Given the description of an element on the screen output the (x, y) to click on. 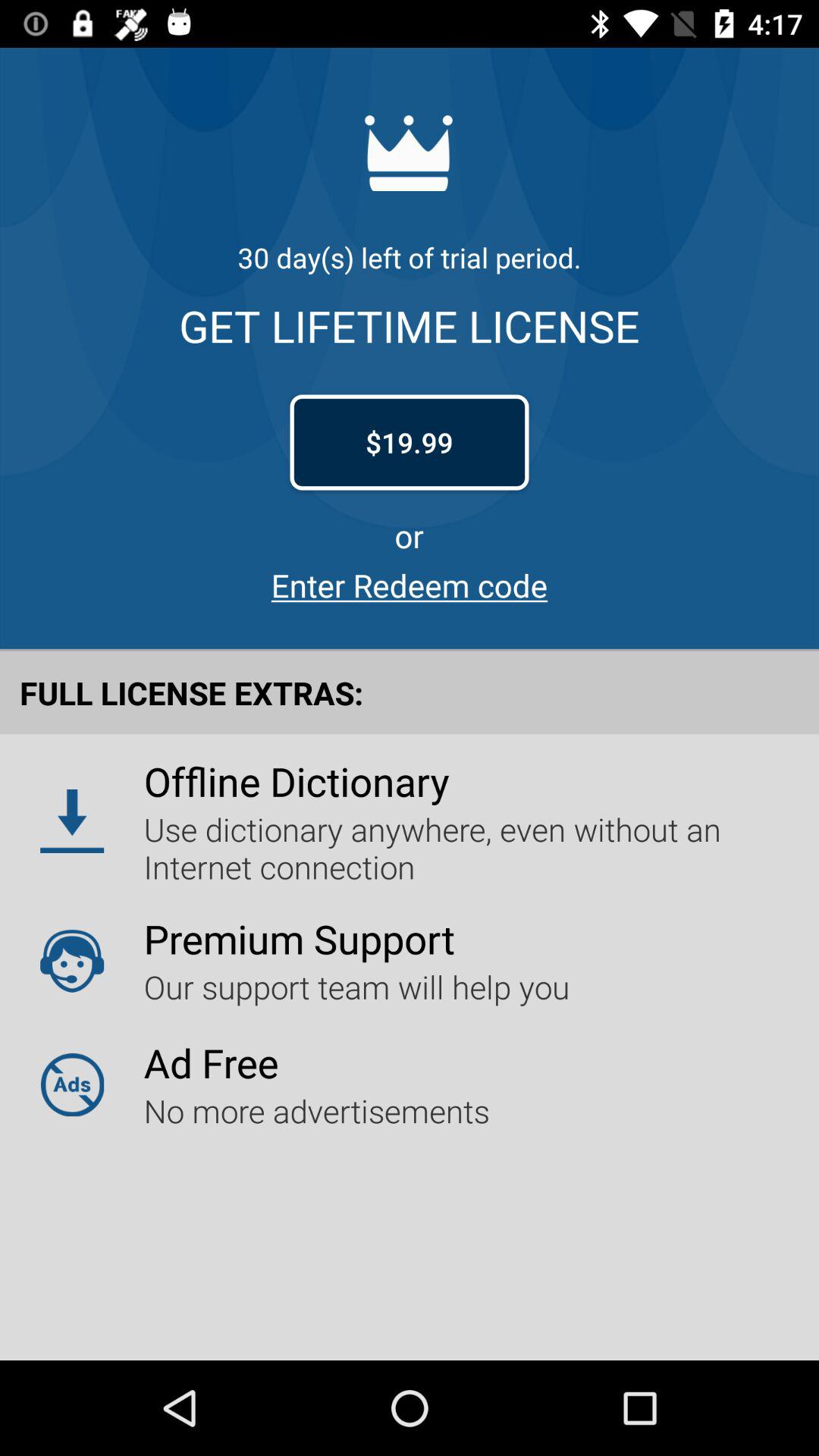
turn on the item below get lifetime license item (409, 442)
